Given the description of an element on the screen output the (x, y) to click on. 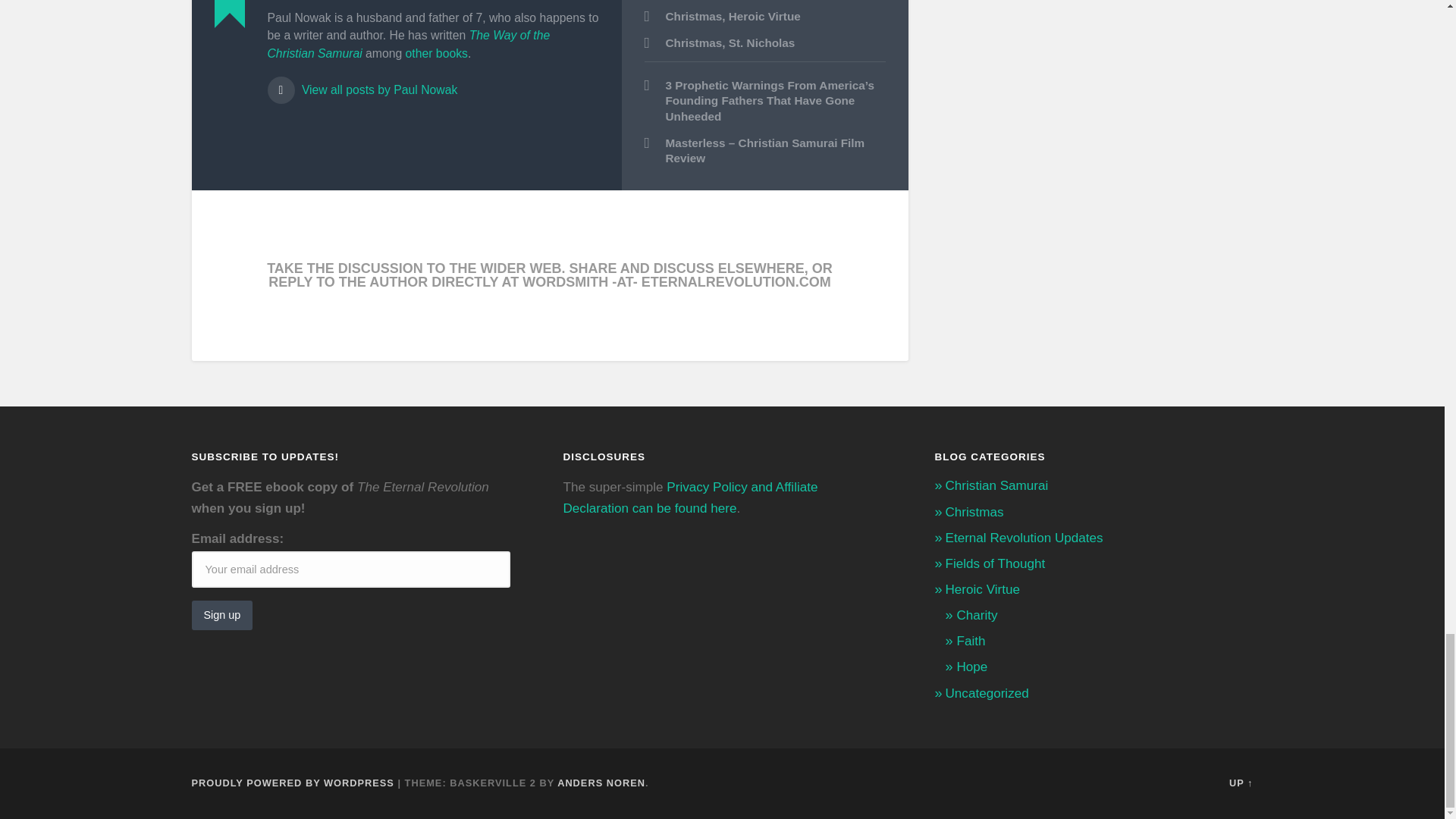
The Way of the Christian Samurai (408, 43)
View all posts by Paul Nowak (432, 82)
To the top (1240, 782)
Heroic Virtue (764, 15)
Guest posts from the democracy of the dead.  (994, 563)
St. Nicholas (761, 42)
Christmas (693, 15)
Posts related to improving a life of virtue.  (982, 589)
Sign up (220, 614)
